Given the description of an element on the screen output the (x, y) to click on. 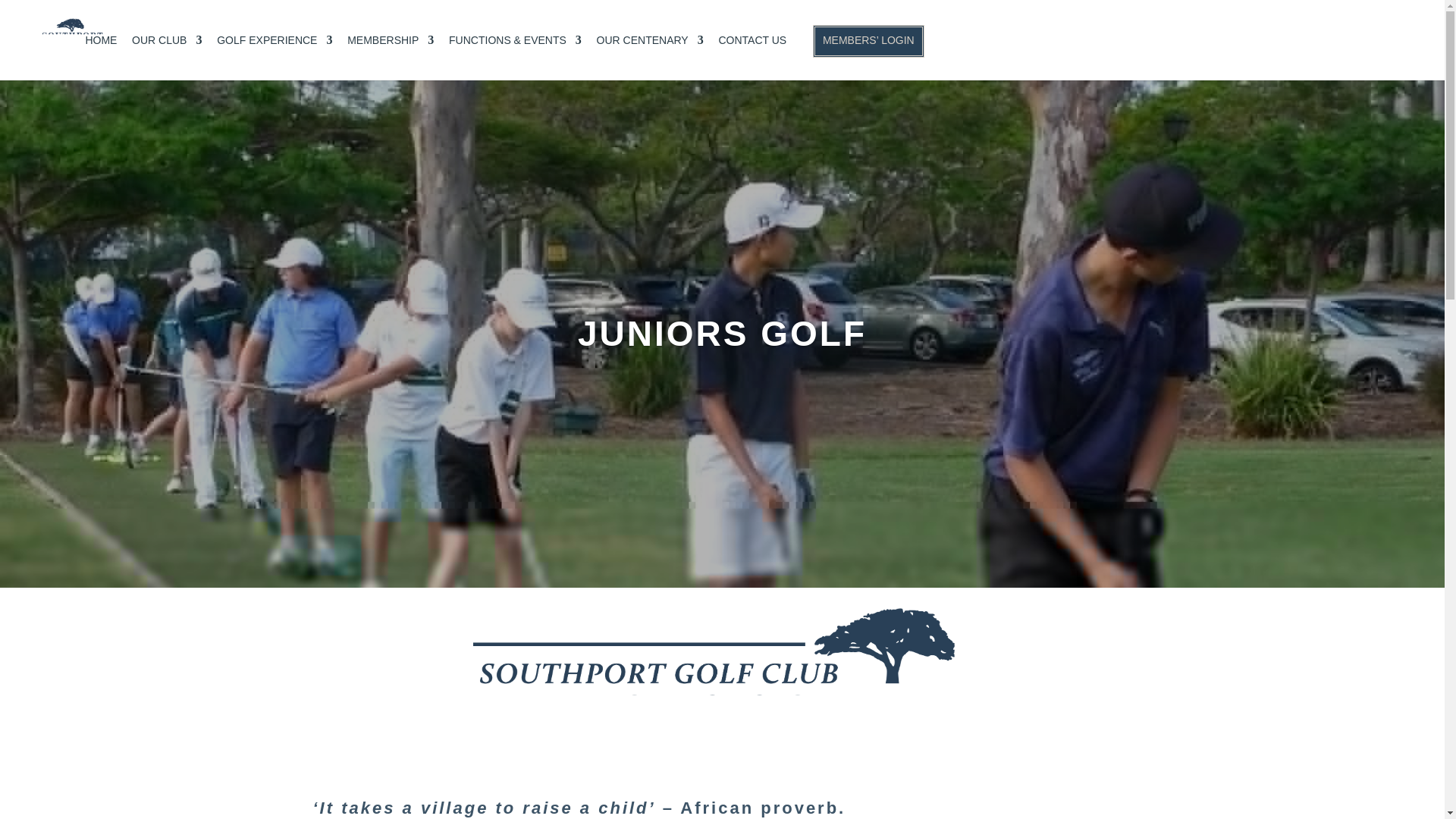
CONTACT US (751, 45)
MEMBERSHIP (390, 45)
GOLF EXPERIENCE (273, 45)
HOME (100, 45)
OUR CENTENARY (649, 45)
OUR CLUB (167, 45)
JUNIORS GOLF (722, 332)
